Given the description of an element on the screen output the (x, y) to click on. 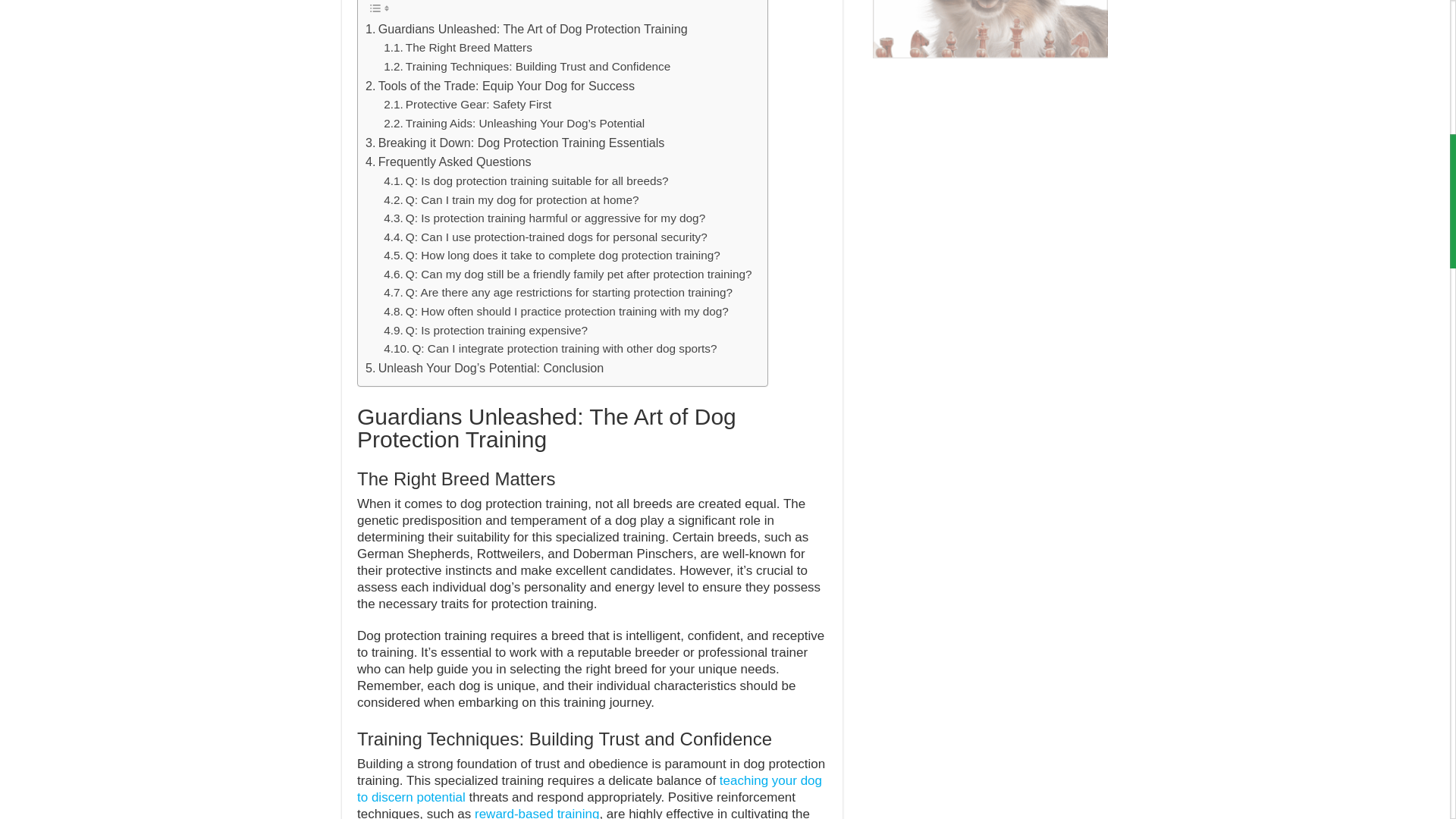
Protective Gear: Safety First (467, 104)
Tools of the Trade: Equip Your Dog for Success (499, 86)
The Right Breed Matters (458, 47)
Guardians Unleashed: The Art of Dog Protection Training (526, 29)
Q: Can I train my dog for protection at home? (511, 199)
Frequently Asked Questions (448, 161)
Q: Is dog protection training suitable for all breeds? (526, 180)
Breaking it Down: Dog Protection Training Essentials (514, 143)
Training Techniques: Building Trust and Confidence (526, 66)
